Given the description of an element on the screen output the (x, y) to click on. 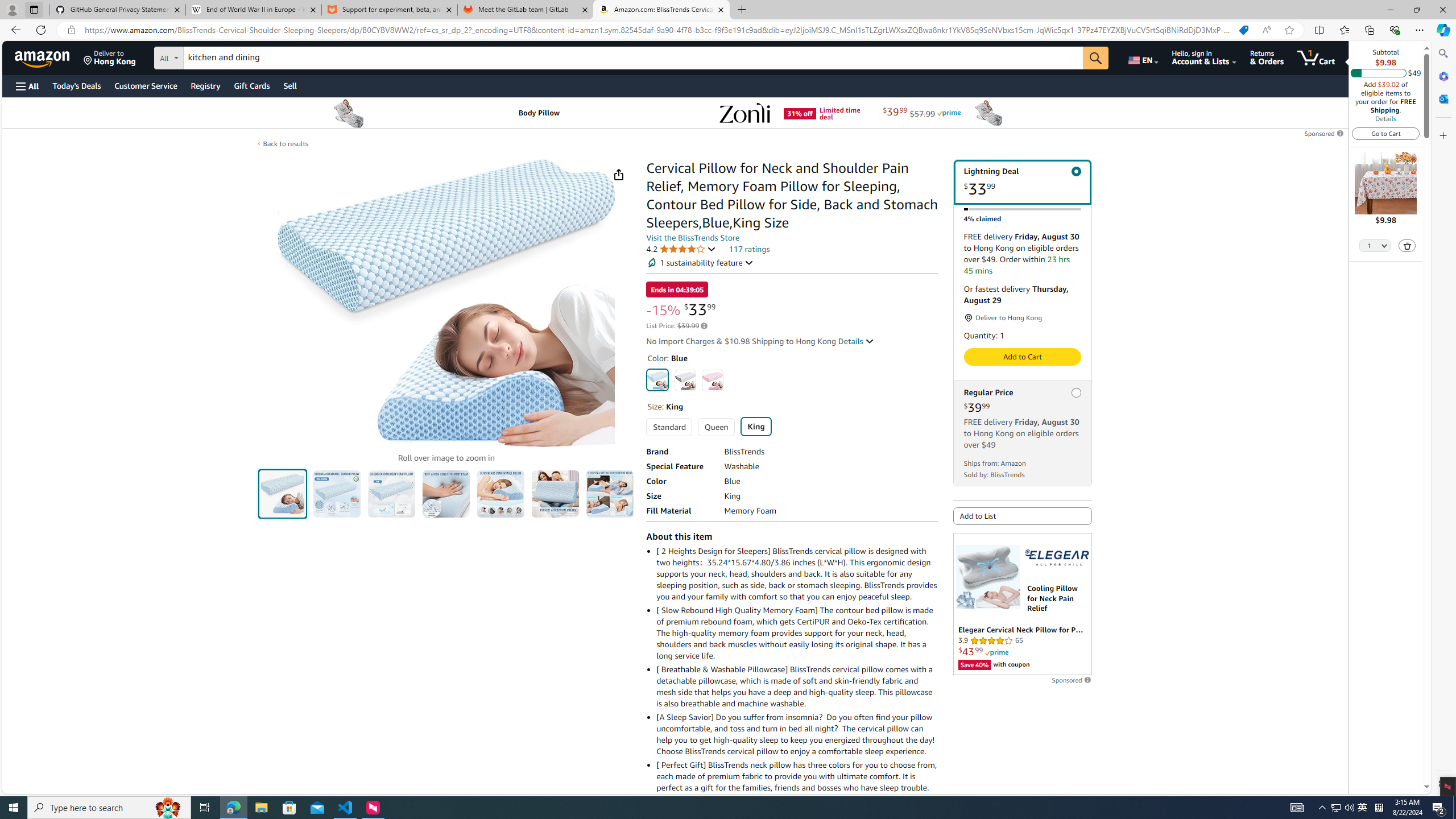
Add to List (1022, 515)
Back to results (285, 143)
Open Menu (26, 86)
Blue (657, 379)
Prime (996, 652)
Visit the BlissTrends Store (692, 237)
Returns & Orders (1266, 57)
